Given the description of an element on the screen output the (x, y) to click on. 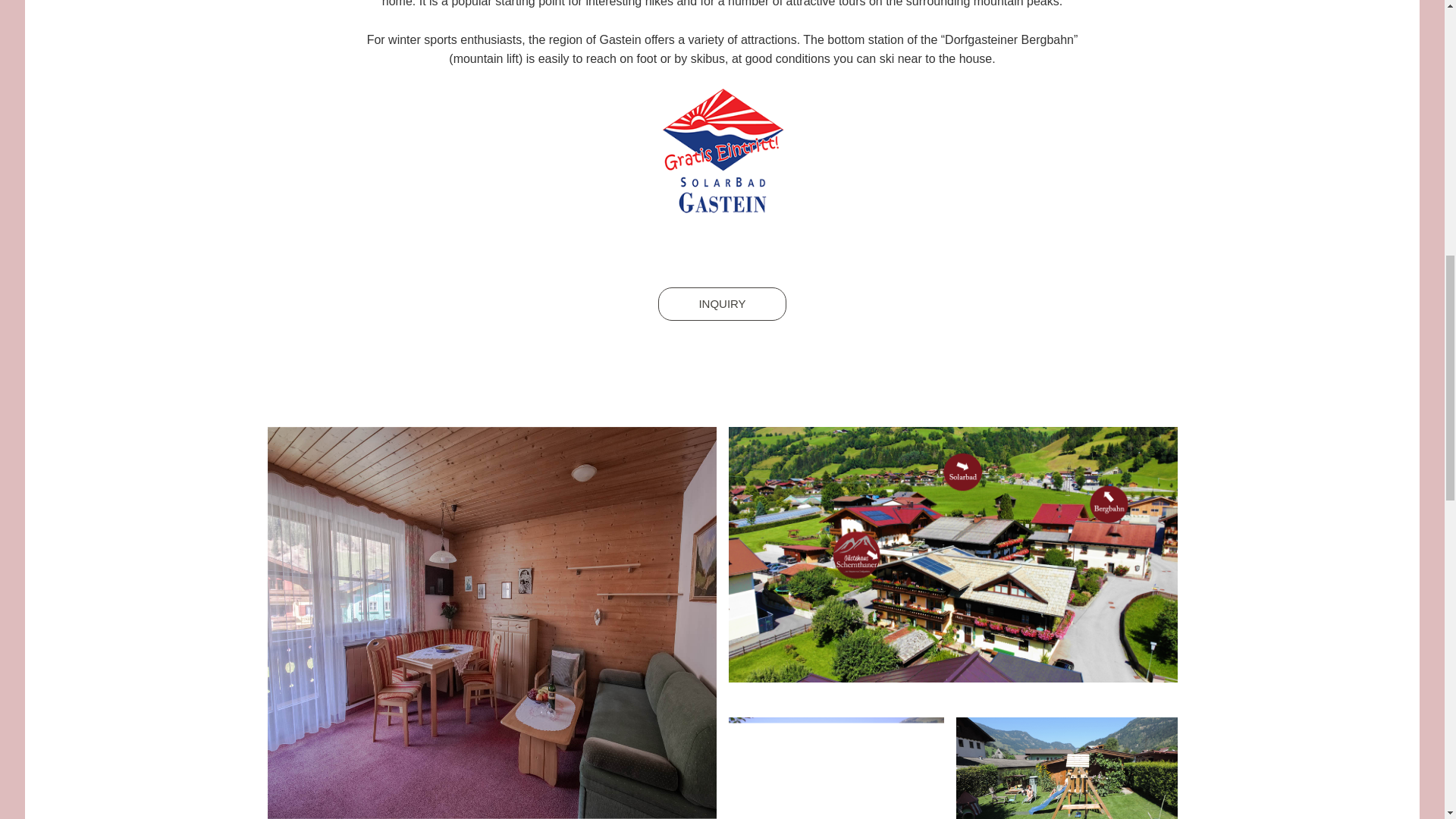
INQUIRY (722, 304)
